Given the description of an element on the screen output the (x, y) to click on. 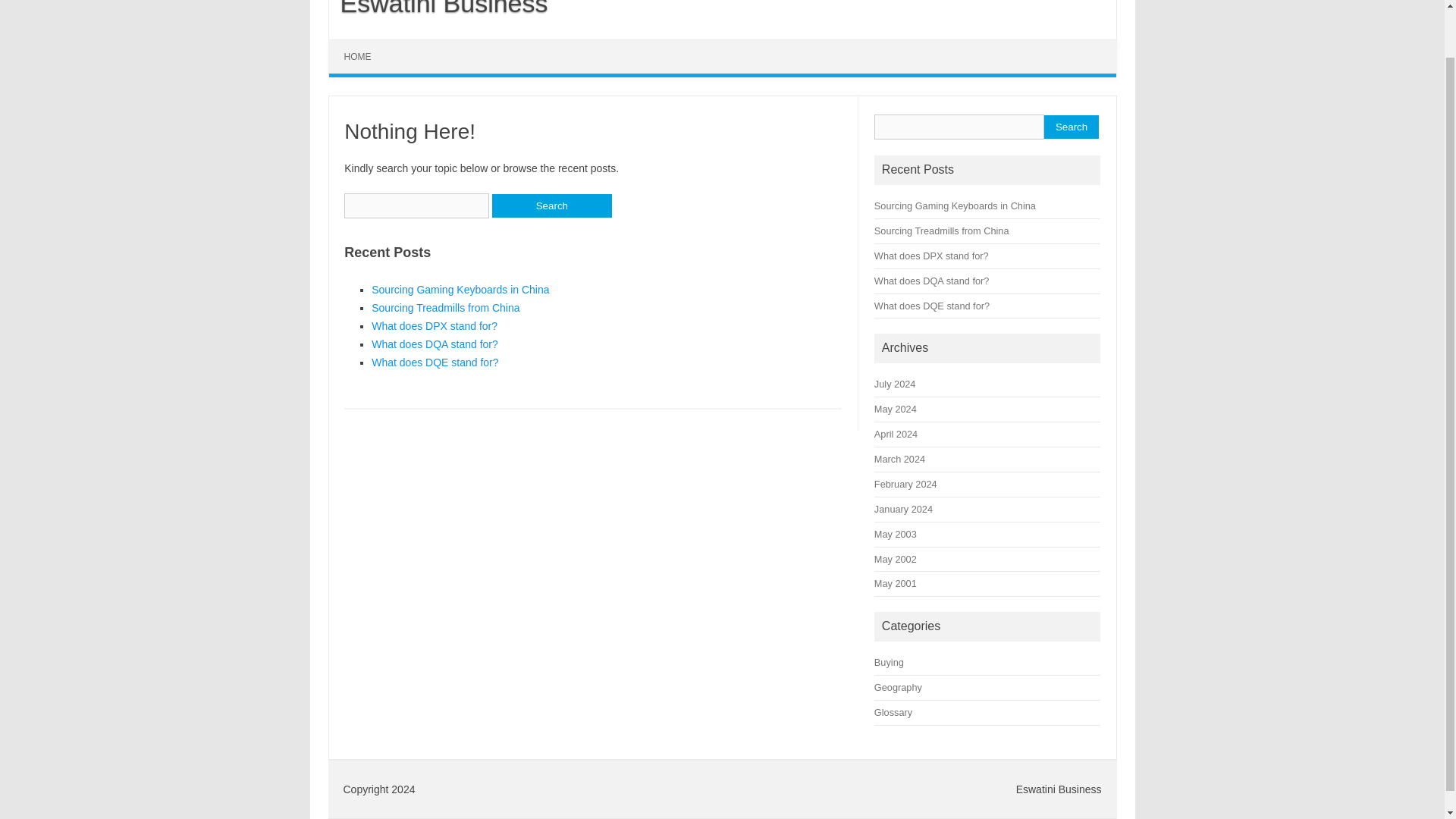
Search (551, 205)
What does DQA stand for? (434, 344)
January 2024 (904, 509)
May 2001 (896, 583)
Sourcing Treadmills from China (942, 230)
Glossary (893, 712)
Sourcing Treadmills from China (445, 307)
Skip to content (363, 44)
What does DQE stand for? (434, 362)
Skip to content (363, 44)
